Given the description of an element on the screen output the (x, y) to click on. 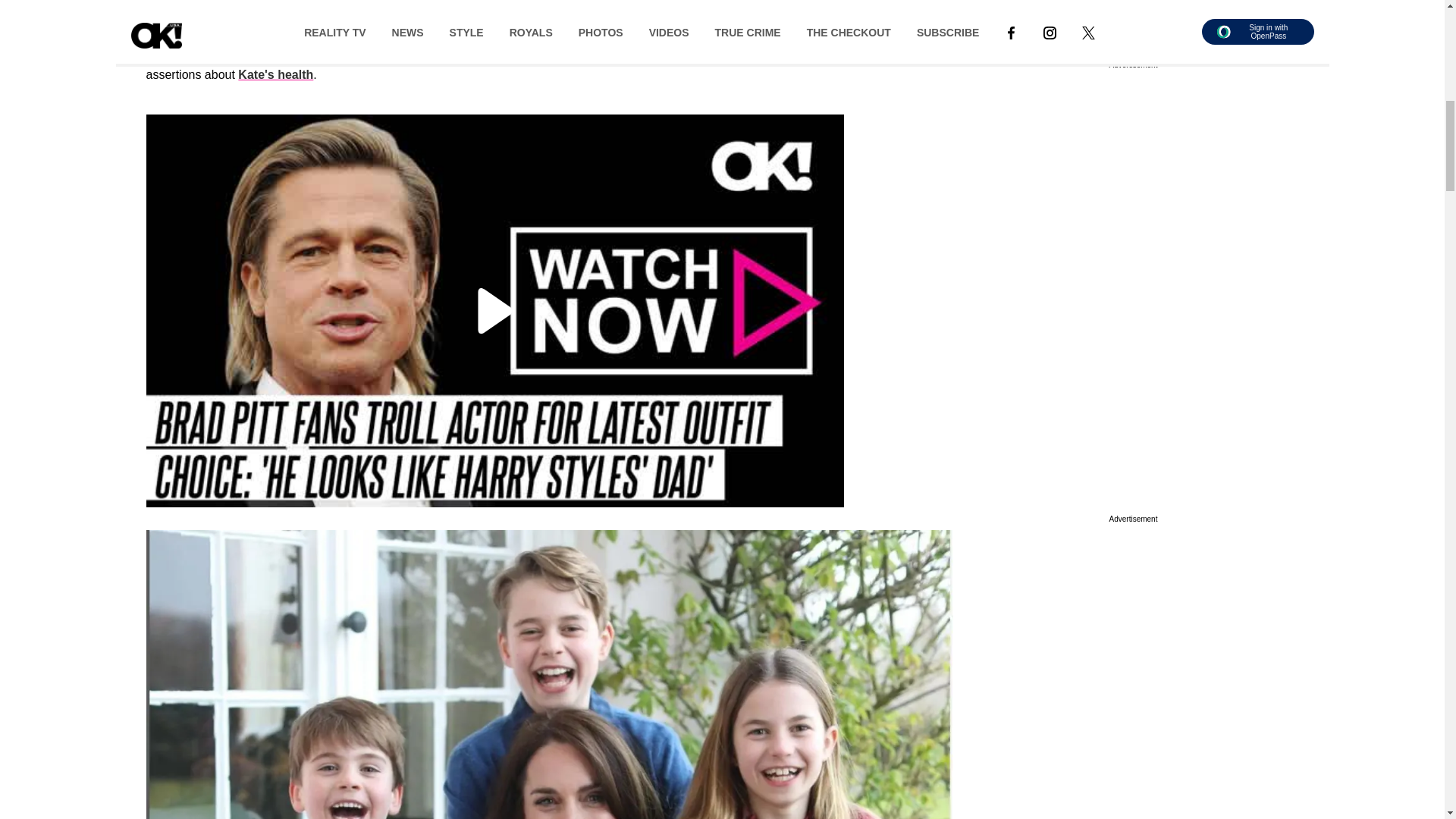
Kate Middleton (188, 25)
Instagram (734, 25)
